Given the description of an element on the screen output the (x, y) to click on. 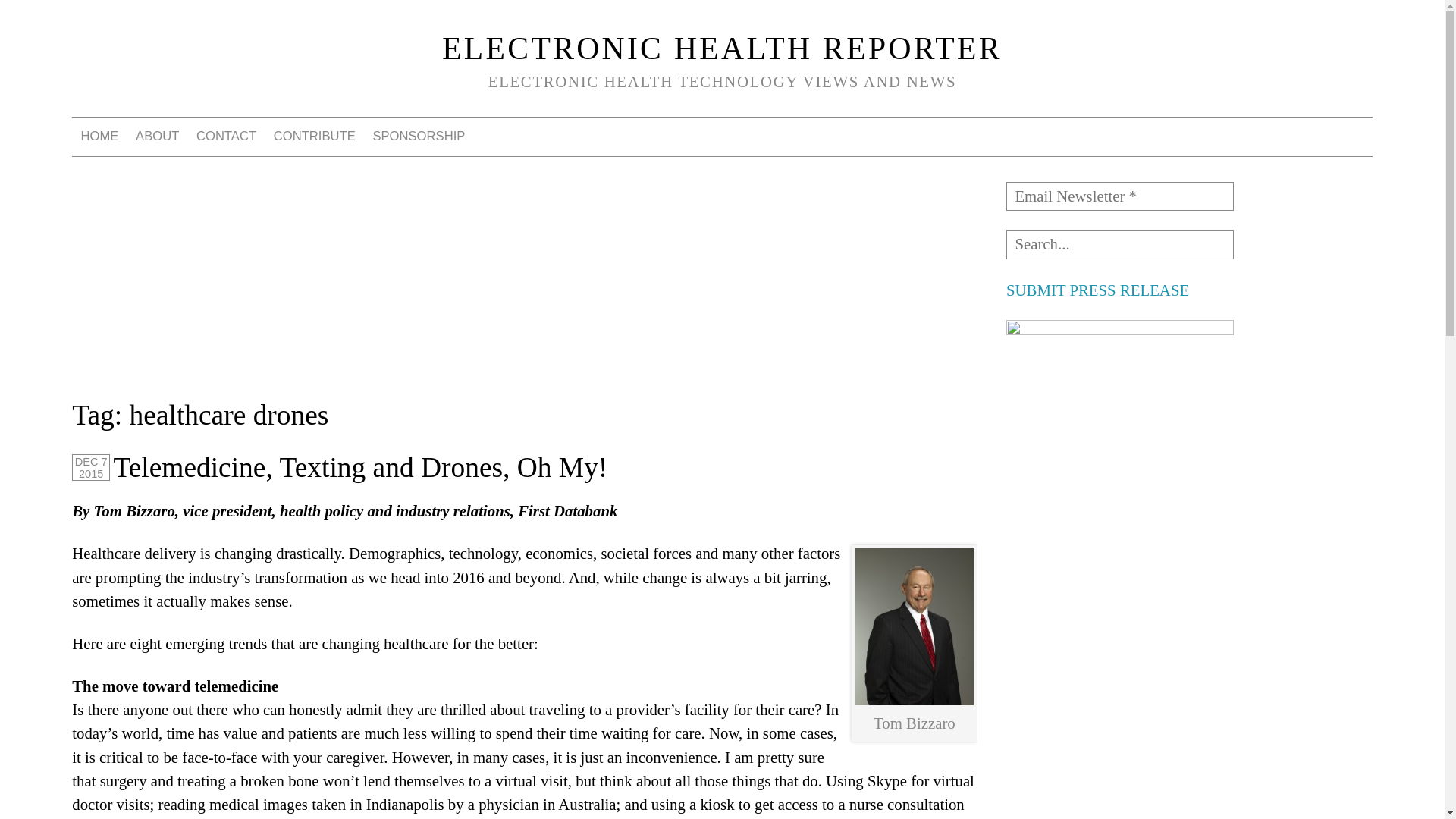
ELECTRONIC HEALTH REPORTER (722, 48)
December 7, 2015 5:34 am (90, 467)
LINKEDIN (1277, 136)
Subscribe (48, 16)
CONTACT (226, 136)
FACEBOOK (1239, 136)
ABOUT (157, 136)
RSS FEED (1315, 136)
HOME (99, 136)
Telemedicine, Texting and Drones, Oh My! (360, 467)
Email Newsletter (1119, 195)
SUBMIT PRESS RELEASE (1097, 289)
CONTRIBUTE (313, 136)
SPONSORSHIP (418, 136)
